Given the description of an element on the screen output the (x, y) to click on. 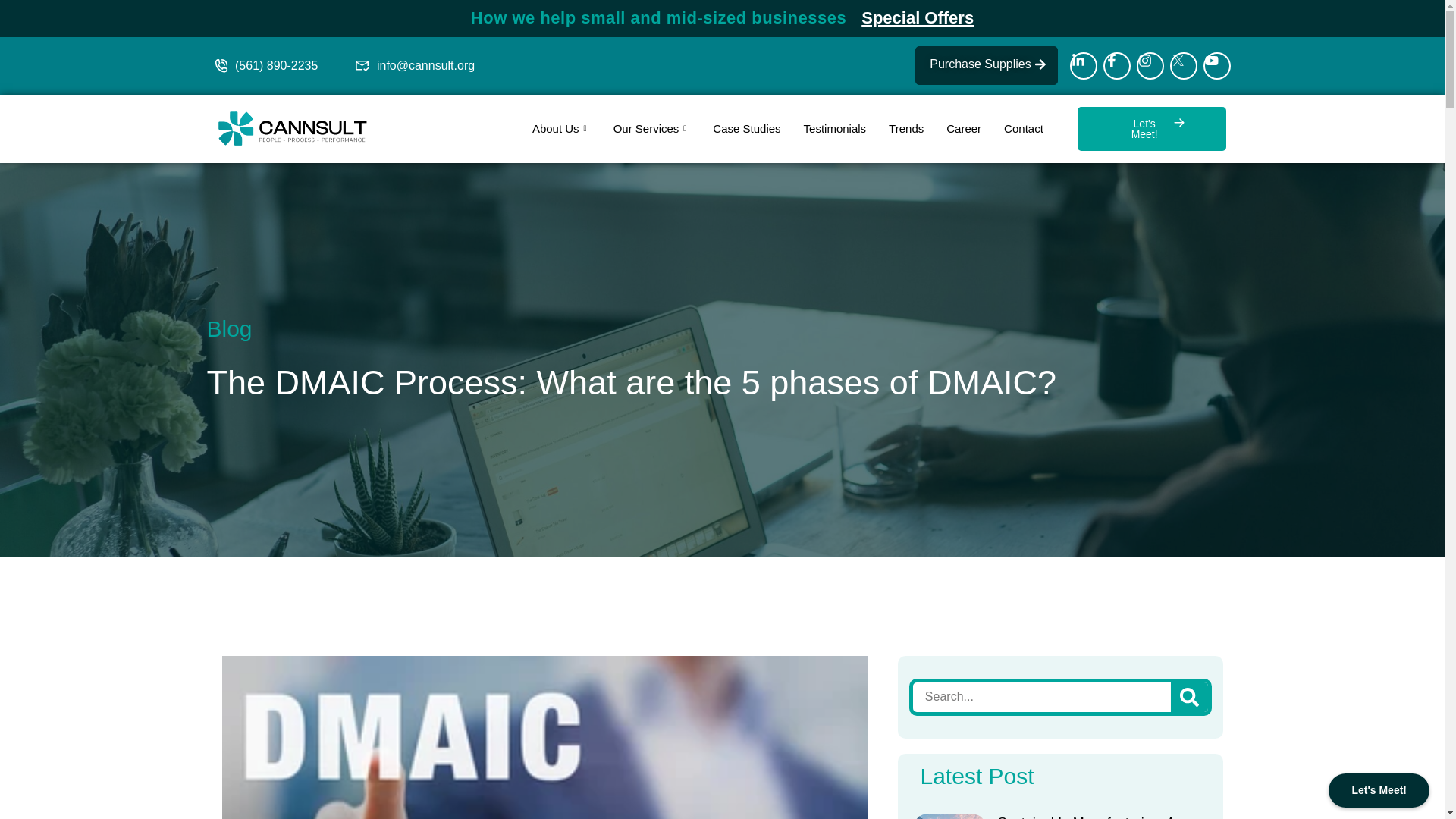
Linkedin-in (1082, 65)
Our Services (651, 128)
Facebook-f (1115, 65)
Youtube (1216, 65)
About Us (561, 128)
Purchase Supplies (986, 65)
Instagram (1149, 65)
Special Offers (917, 17)
